Given the description of an element on the screen output the (x, y) to click on. 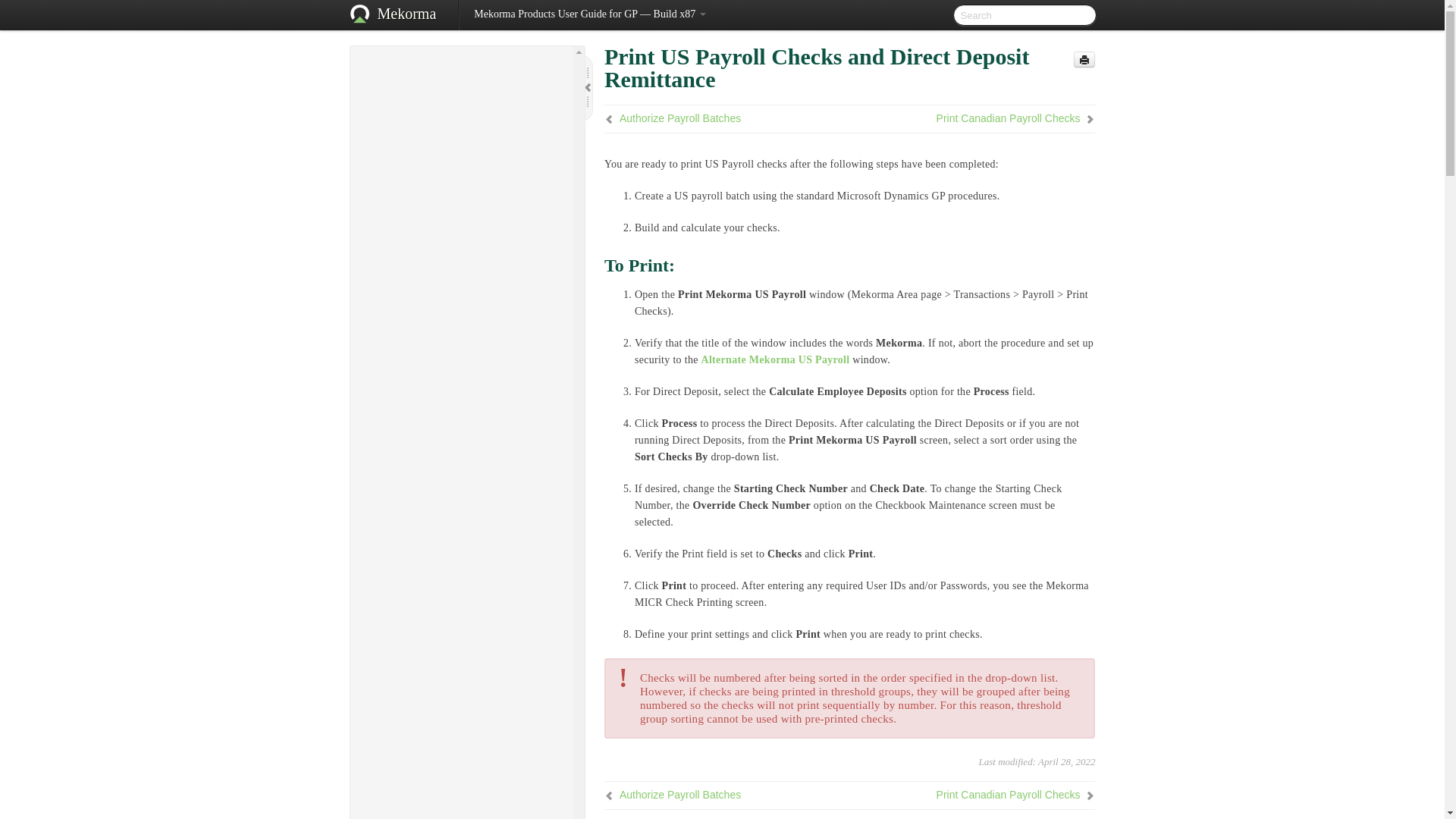
Print page (1084, 59)
Issues Fixed (467, 116)
Mekorma (406, 15)
Release Notes for Mekorma Build x87 (460, 80)
